Given the description of an element on the screen output the (x, y) to click on. 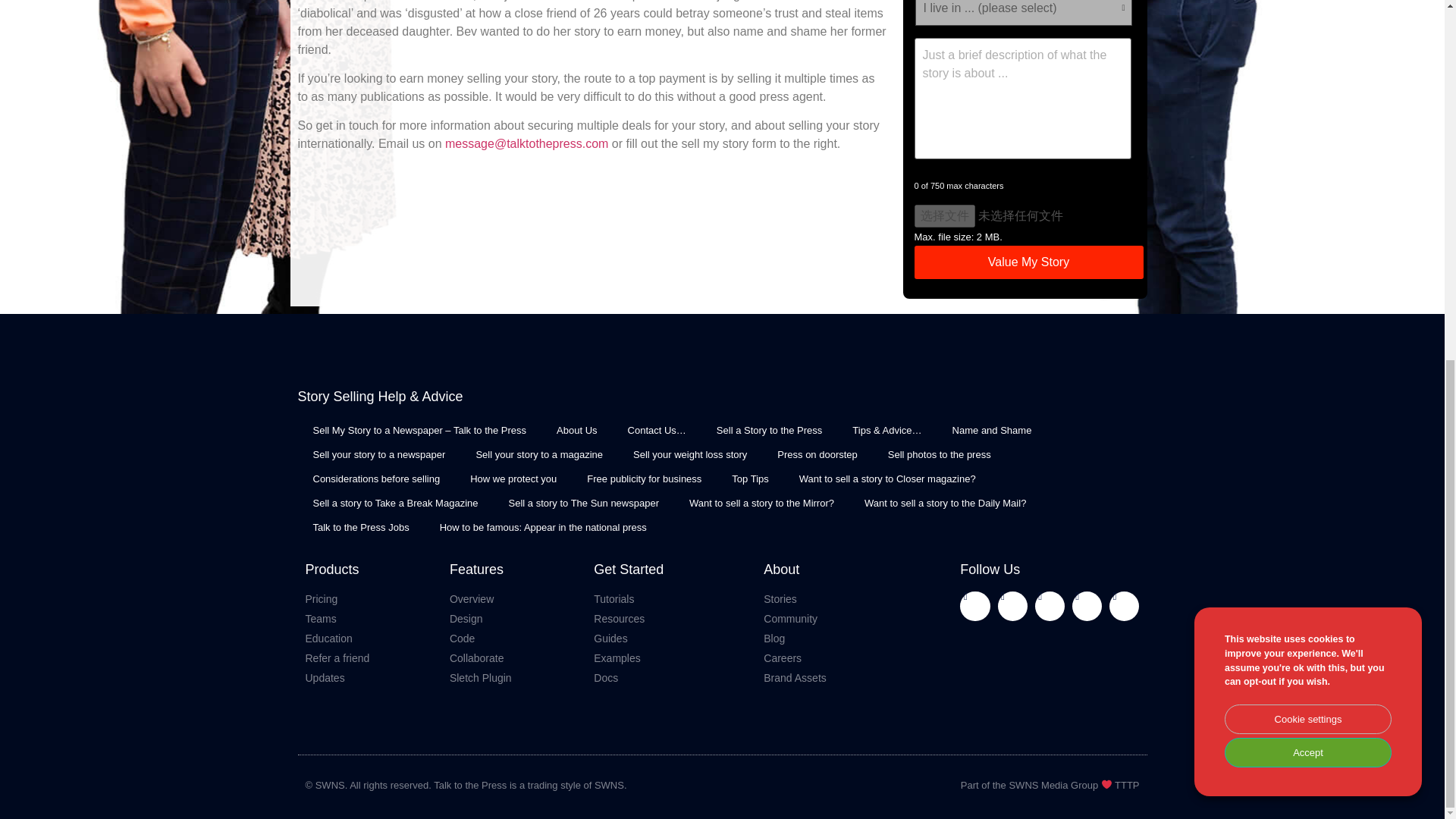
Value My Story (1028, 262)
